Given the description of an element on the screen output the (x, y) to click on. 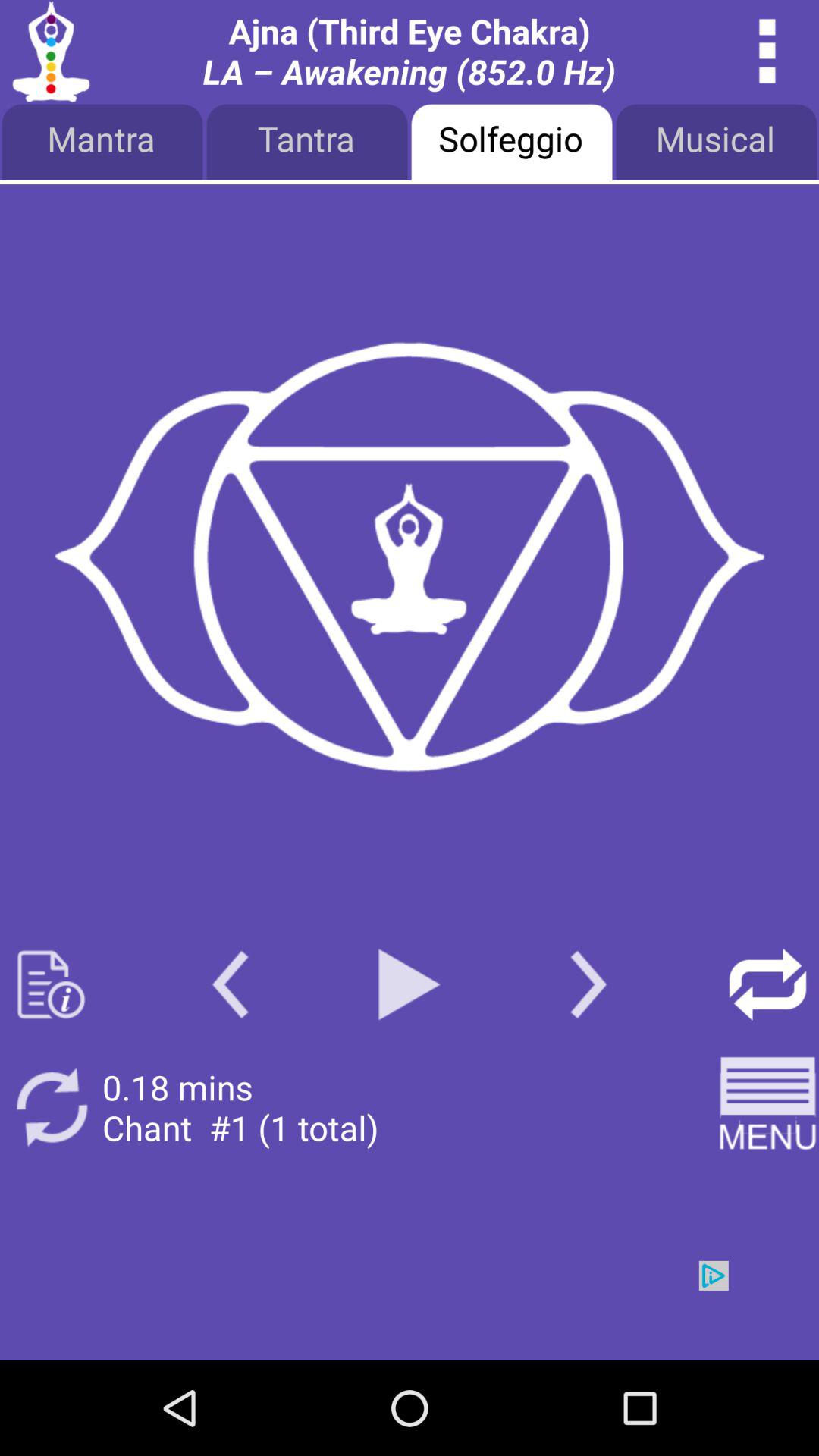
advertisement (409, 1310)
